Given the description of an element on the screen output the (x, y) to click on. 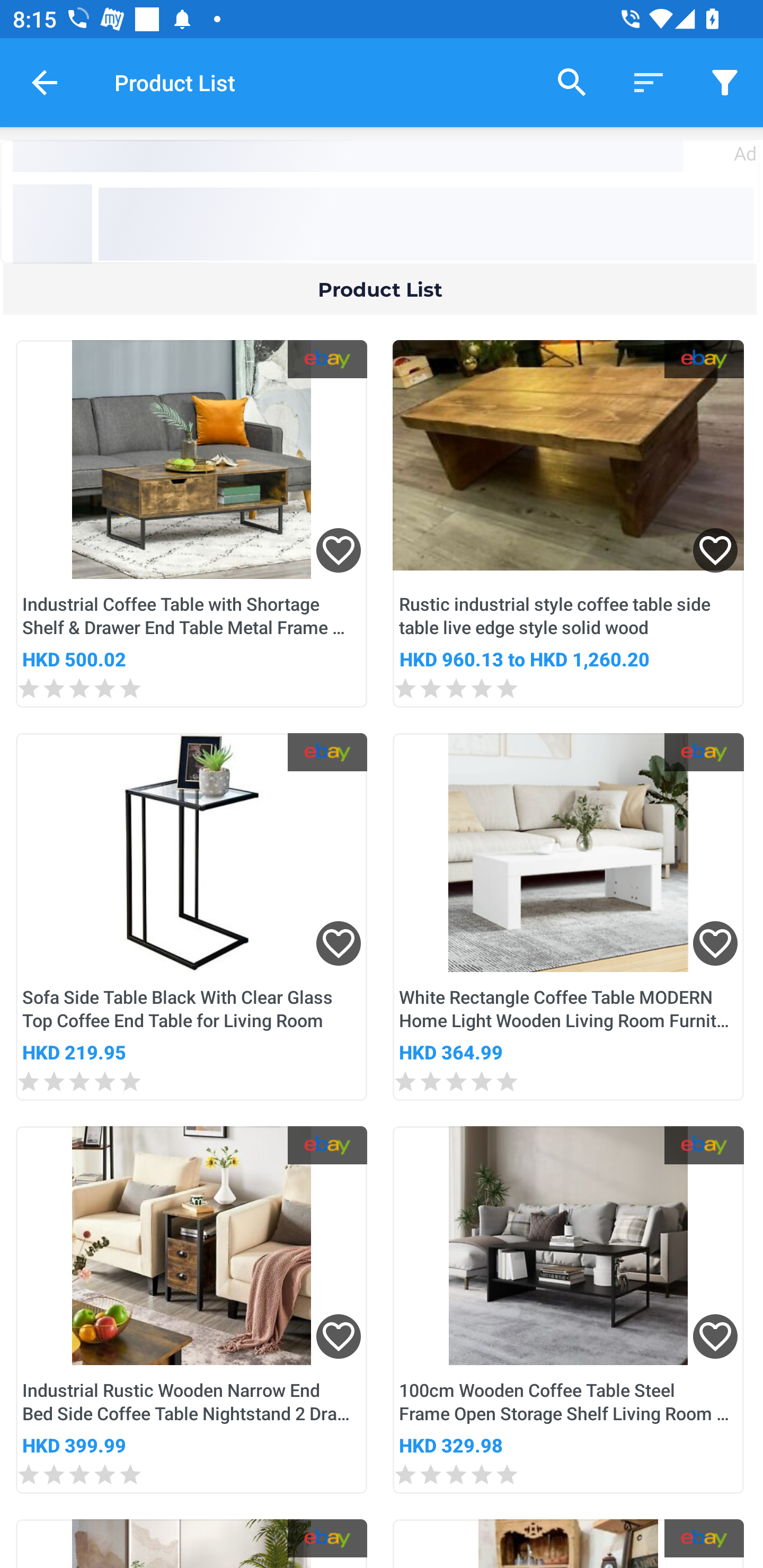
Navigate up (44, 82)
Search (572, 81)
short (648, 81)
short (724, 81)
